Given the description of an element on the screen output the (x, y) to click on. 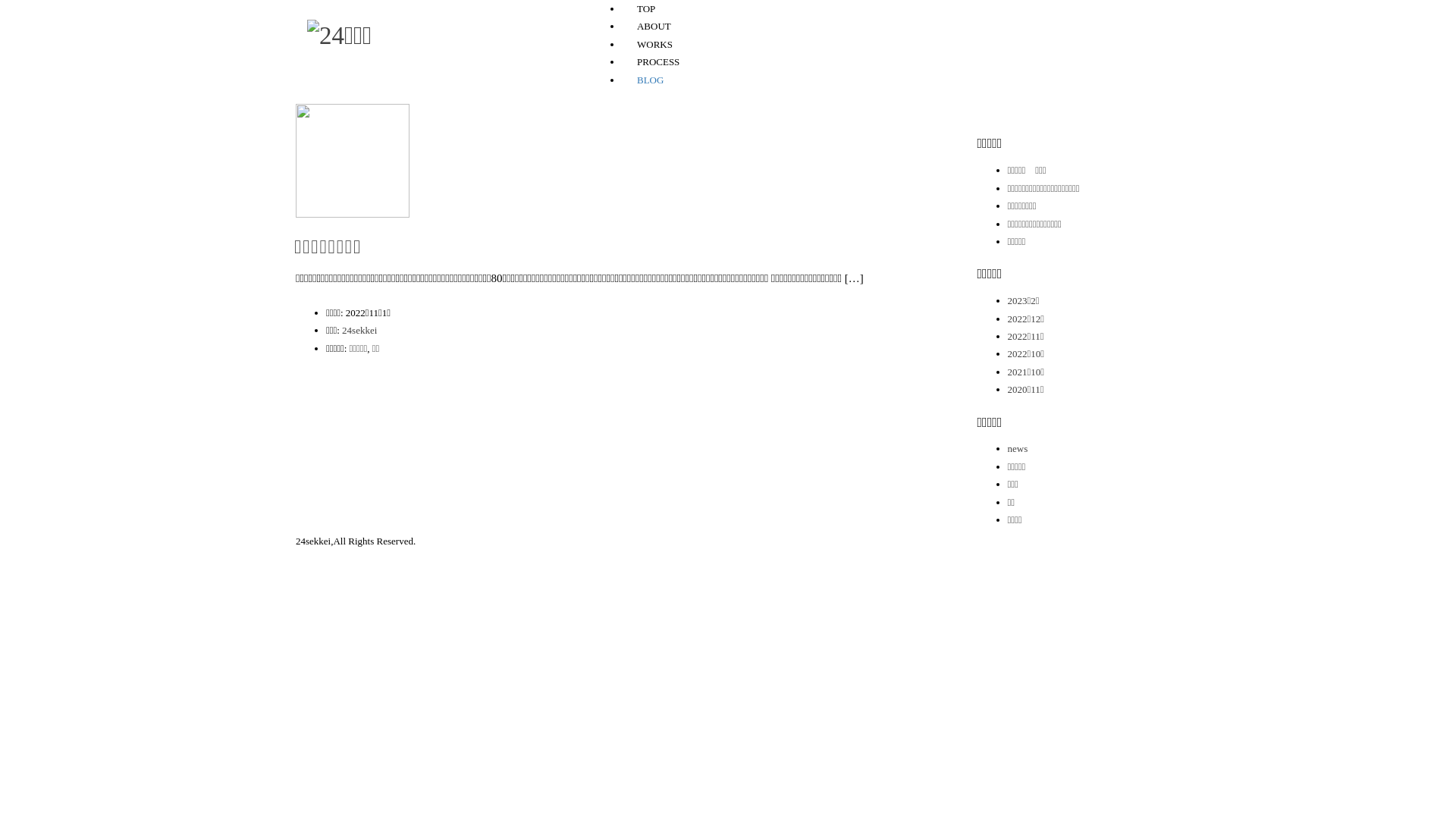
news Element type: text (1017, 448)
WORKS Element type: text (654, 43)
BLOG Element type: text (649, 79)
24sekkei Element type: text (359, 329)
PROCESS Element type: text (657, 61)
